Given the description of an element on the screen output the (x, y) to click on. 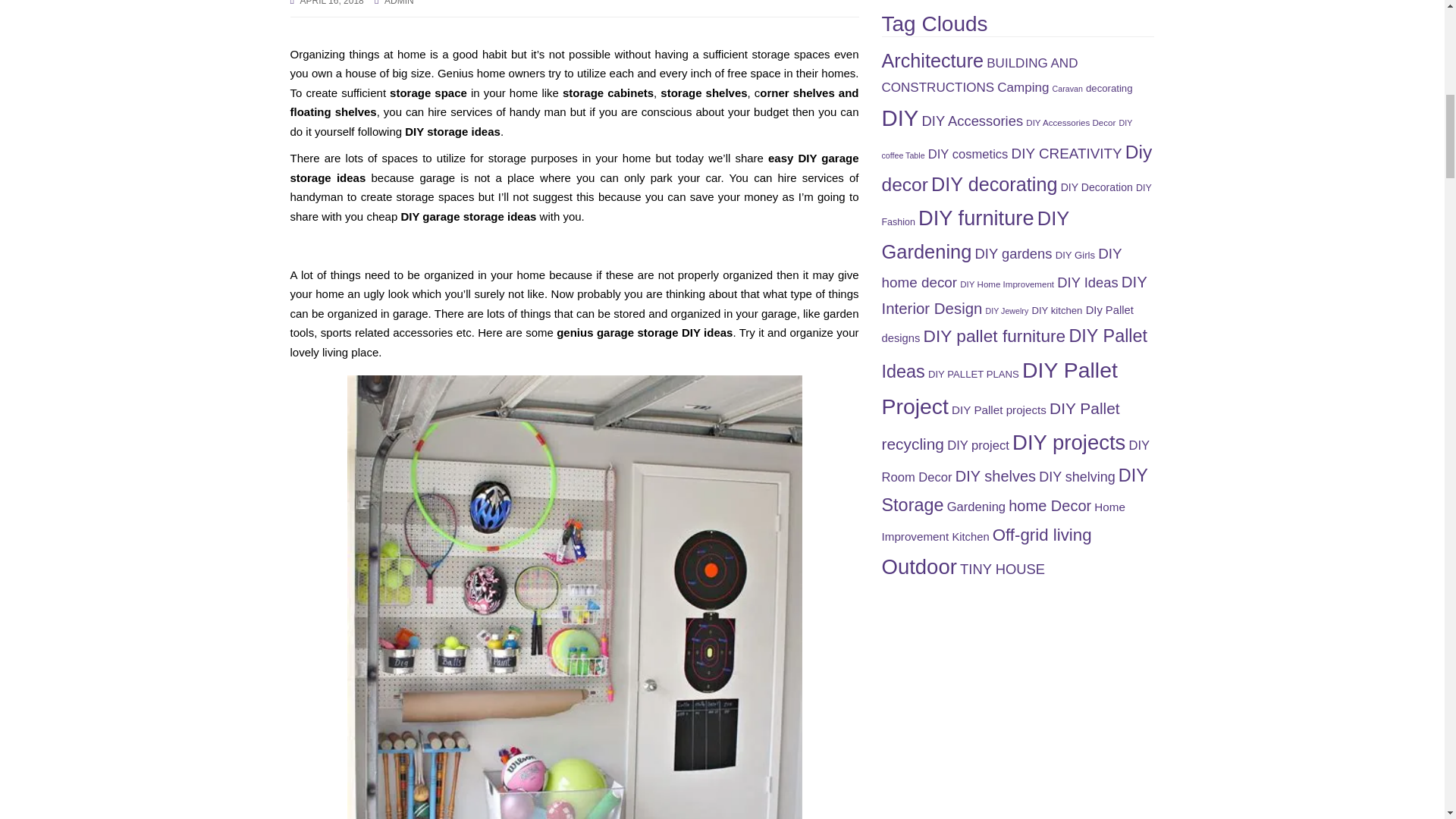
Architecture (932, 60)
Camping (1022, 87)
APRIL 16, 2018 (331, 2)
BUILDING AND CONSTRUCTIONS (978, 75)
ADMIN (398, 2)
